Given the description of an element on the screen output the (x, y) to click on. 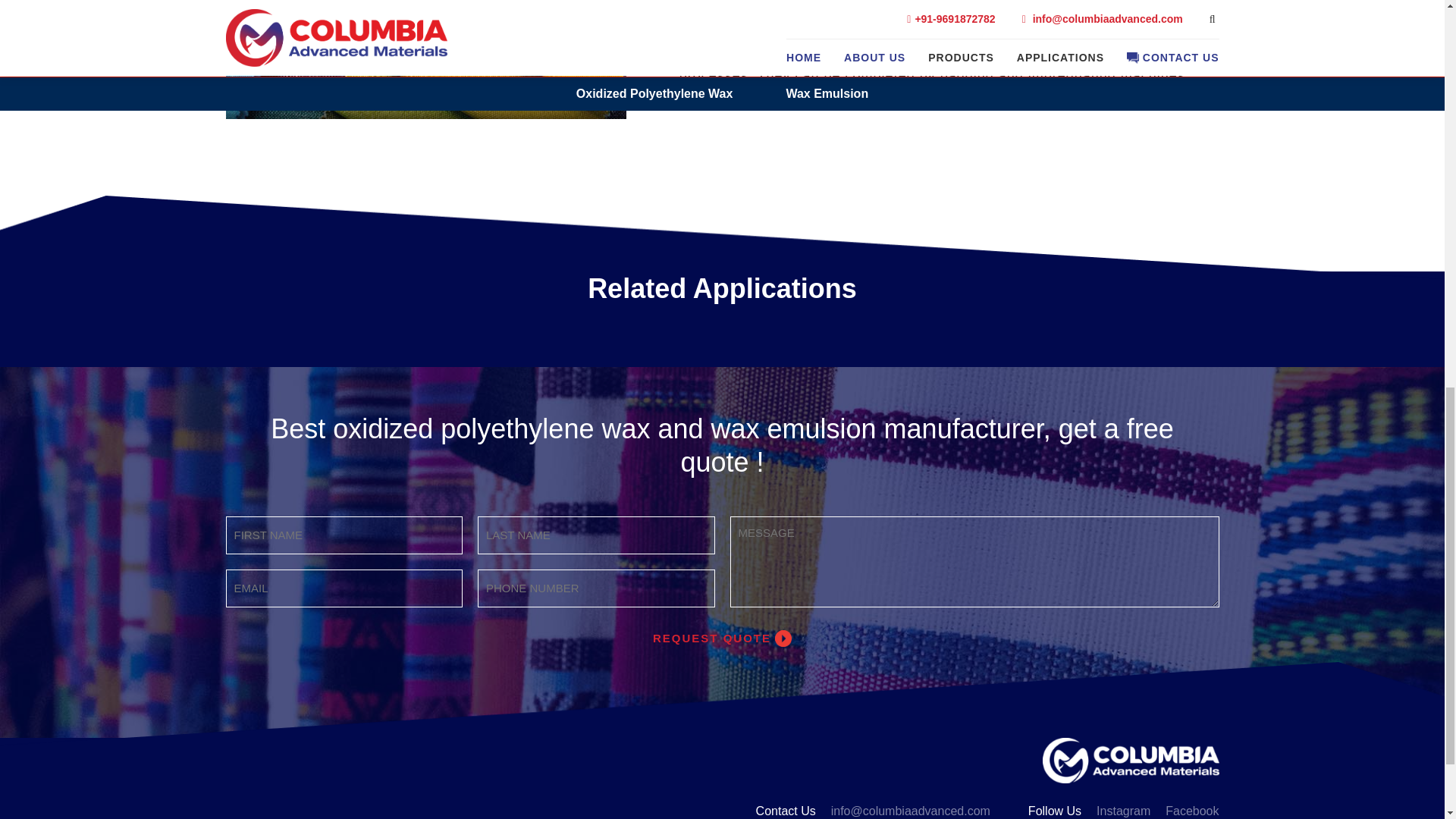
Instagram (1123, 810)
Facebook (1192, 810)
REQUEST QUOTE (722, 638)
